Given the description of an element on the screen output the (x, y) to click on. 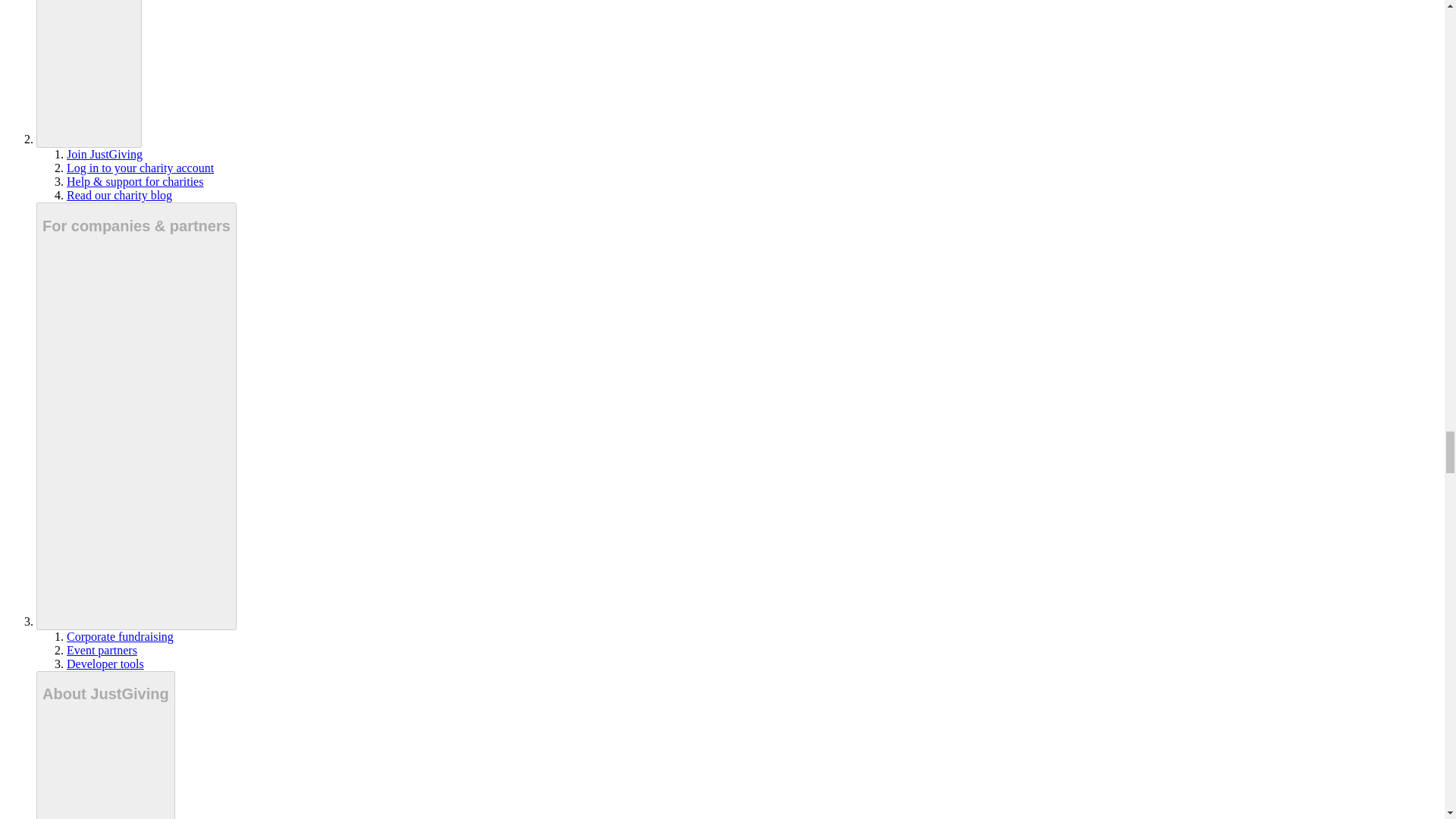
Corporate fundraising (119, 635)
For Charities (88, 74)
Join JustGiving (104, 154)
Event partners (101, 649)
Log in to your charity account (140, 167)
Read our charity blog (118, 195)
